Given the description of an element on the screen output the (x, y) to click on. 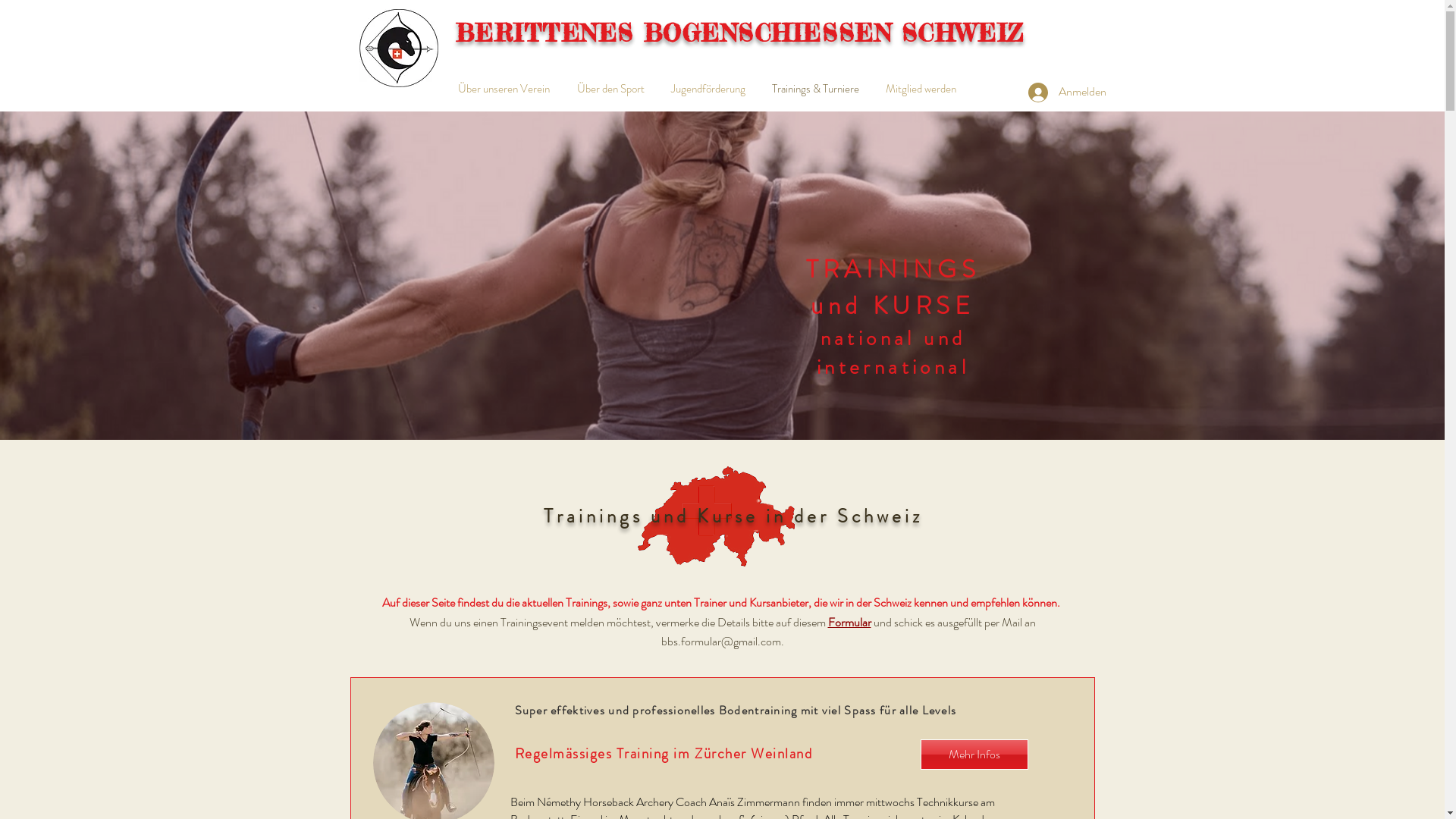
Trainings & Turniere Element type: text (816, 88)
bbs.formular@gmail.com Element type: text (721, 640)
Mehr Infos Element type: text (974, 754)
Anmelden Element type: text (1067, 91)
Formular Element type: text (849, 621)
